Given the description of an element on the screen output the (x, y) to click on. 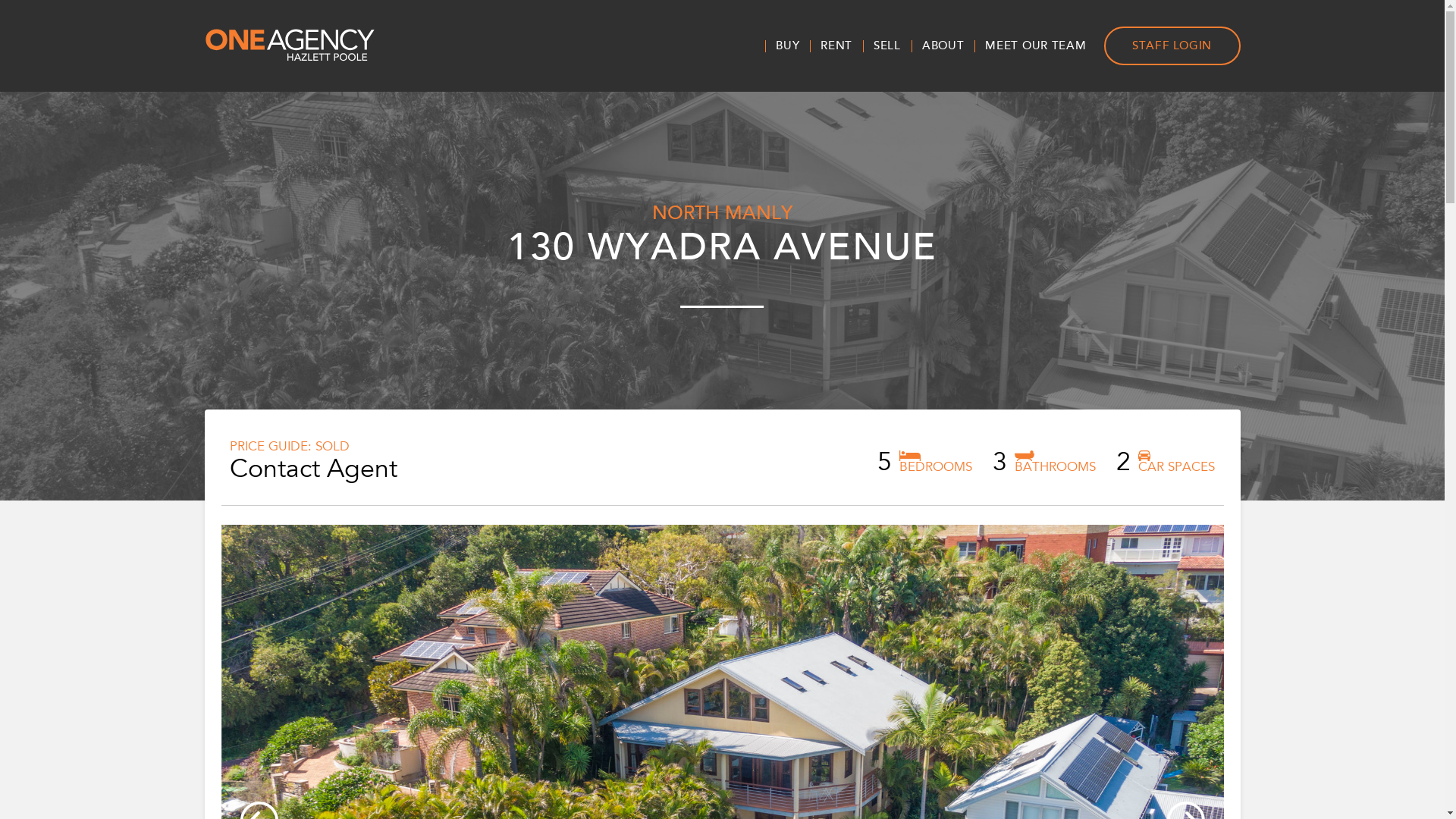
MEET OUR TEAM Element type: text (1035, 45)
STAFF LOGIN Element type: text (1172, 45)
RENT Element type: text (835, 45)
SELL Element type: text (886, 45)
ABOUT Element type: text (943, 45)
BUY Element type: text (787, 45)
